Given the description of an element on the screen output the (x, y) to click on. 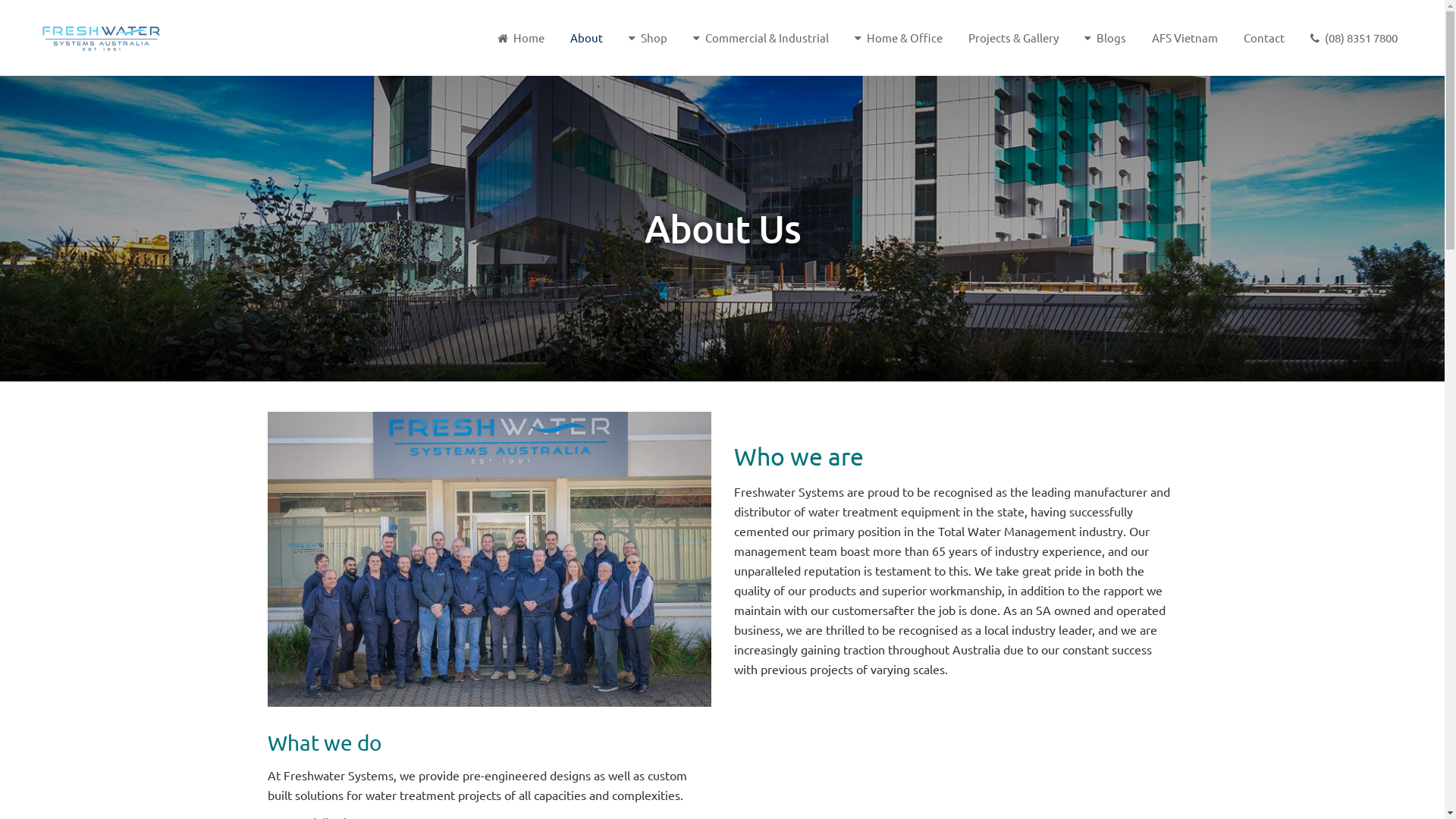
Home Element type: text (520, 37)
Shop Element type: text (647, 37)
AFS Vietnam Element type: text (1184, 37)
(08) 8351 7800 Element type: text (1353, 37)
About Element type: text (586, 37)
Commercial & Industrial Element type: text (760, 37)
Home & Office Element type: text (898, 37)
COMPANY PIC 008_FRESH_WATER- Element type: hover (488, 558)
Projects & Gallery Element type: text (1013, 37)
Blogs Element type: text (1105, 37)
Contact Element type: text (1263, 37)
